Given the description of an element on the screen output the (x, y) to click on. 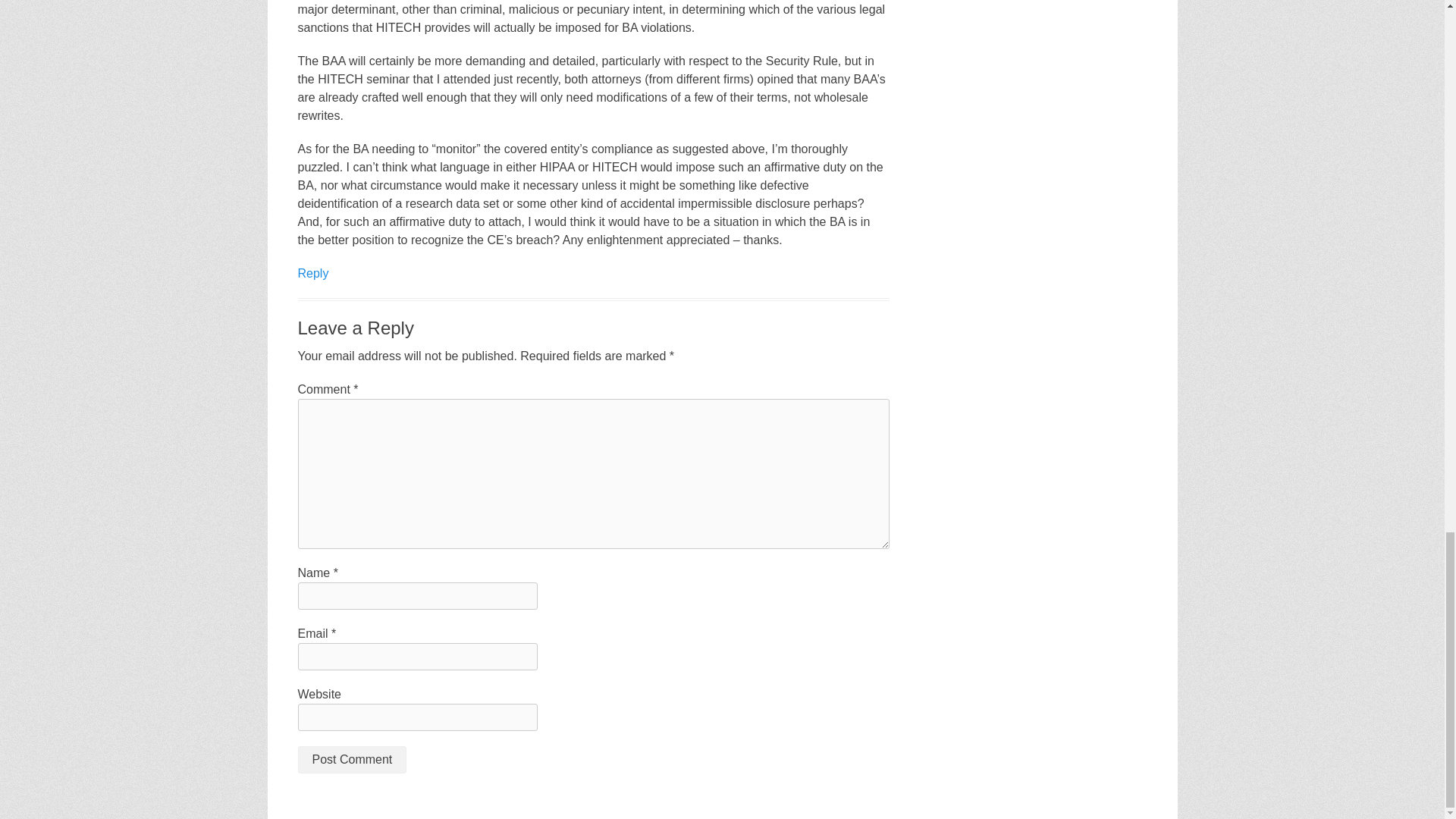
Reply (313, 273)
Post Comment (351, 759)
Post Comment (351, 759)
